Given the description of an element on the screen output the (x, y) to click on. 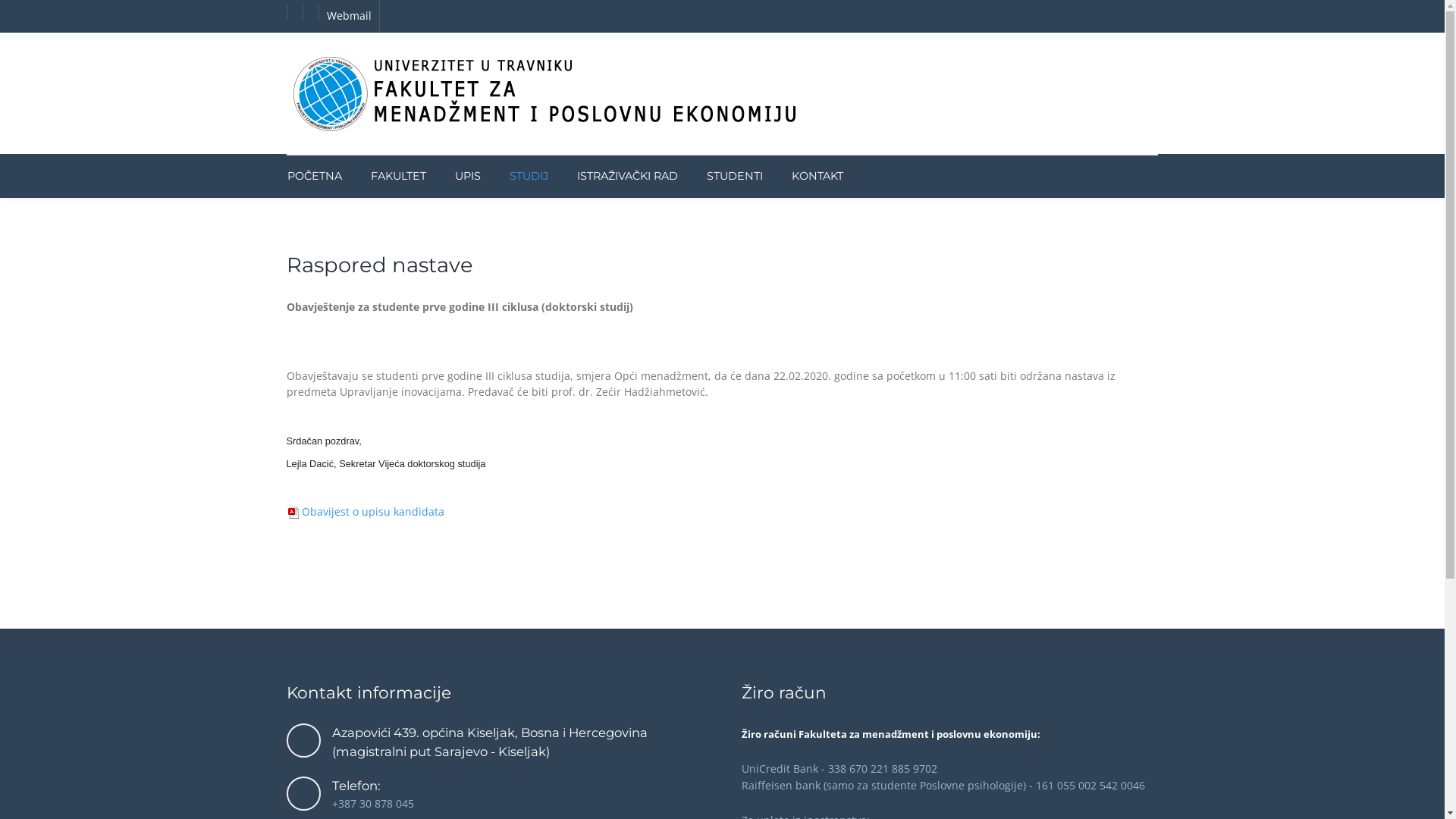
FMPE Element type: hover (547, 92)
STUDIJ Element type: text (527, 175)
Search Element type: hover (1103, 167)
UPIS Element type: text (466, 175)
KONTAKT Element type: text (810, 175)
Obavijest o upisu kandidata Element type: text (365, 511)
Facebook Element type: hover (294, 11)
Login Element type: hover (1129, 167)
STUDENTI Element type: text (734, 175)
Webmail Element type: text (348, 15)
Instagram Element type: hover (311, 11)
FAKULTET Element type: text (398, 175)
